Given the description of an element on the screen output the (x, y) to click on. 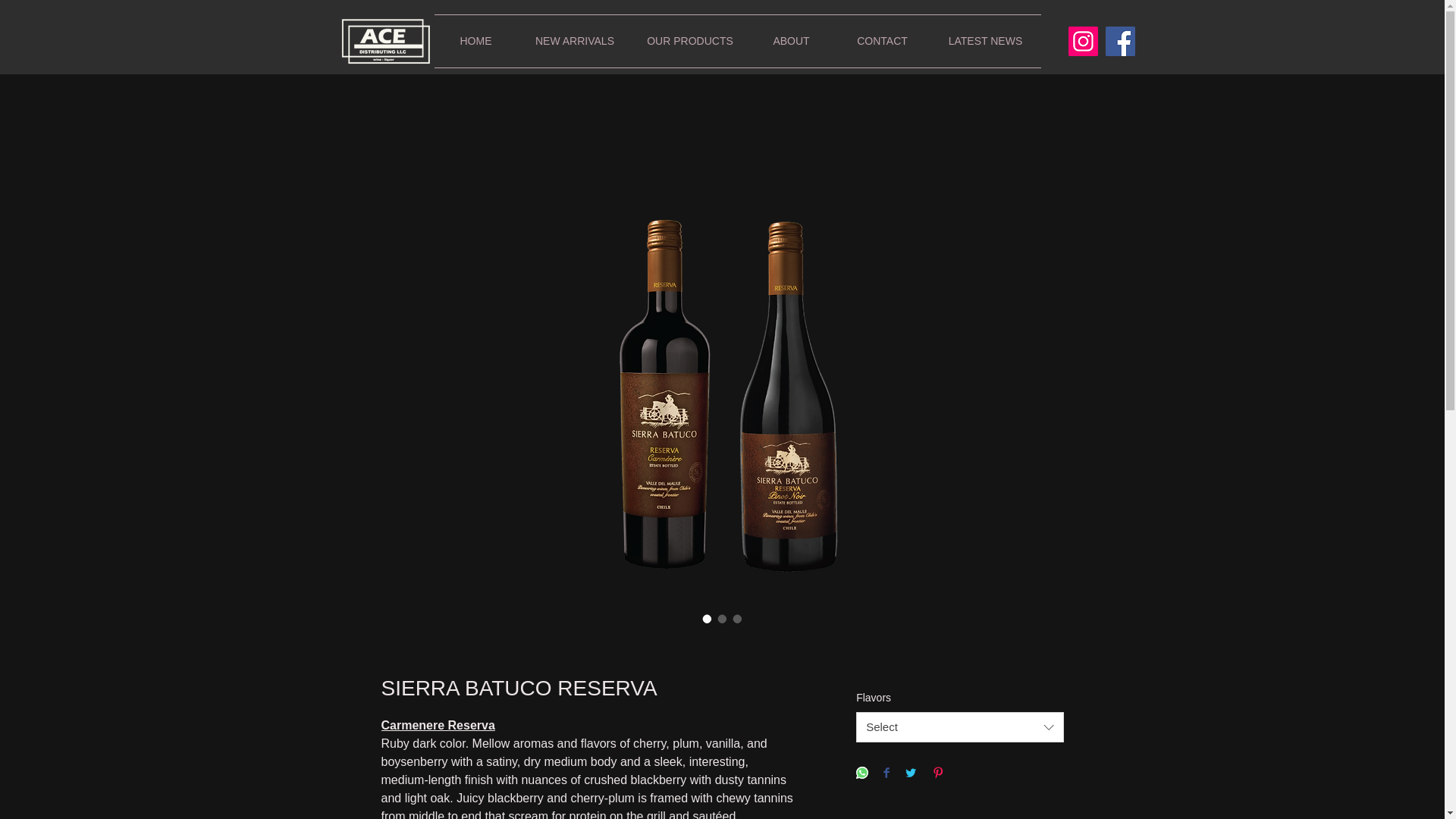
HOME (474, 40)
Select (959, 726)
OUR PRODUCTS (689, 40)
NEW ARRIVALS (573, 40)
LATEST NEWS (985, 40)
ABOUT (791, 40)
CONTACT (882, 40)
